Given the description of an element on the screen output the (x, y) to click on. 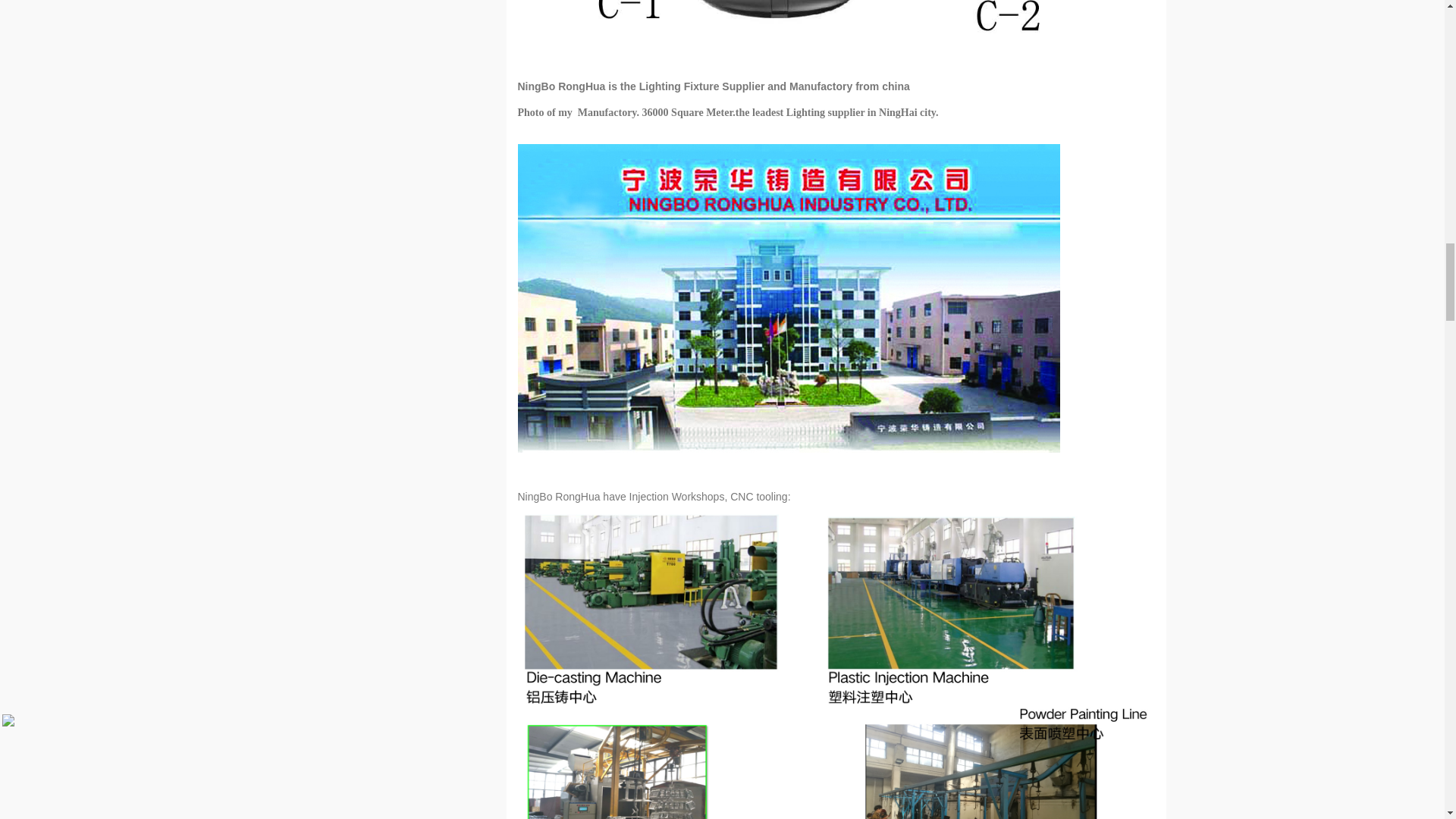
1607754172186781.jpg (835, 34)
